Given the description of an element on the screen output the (x, y) to click on. 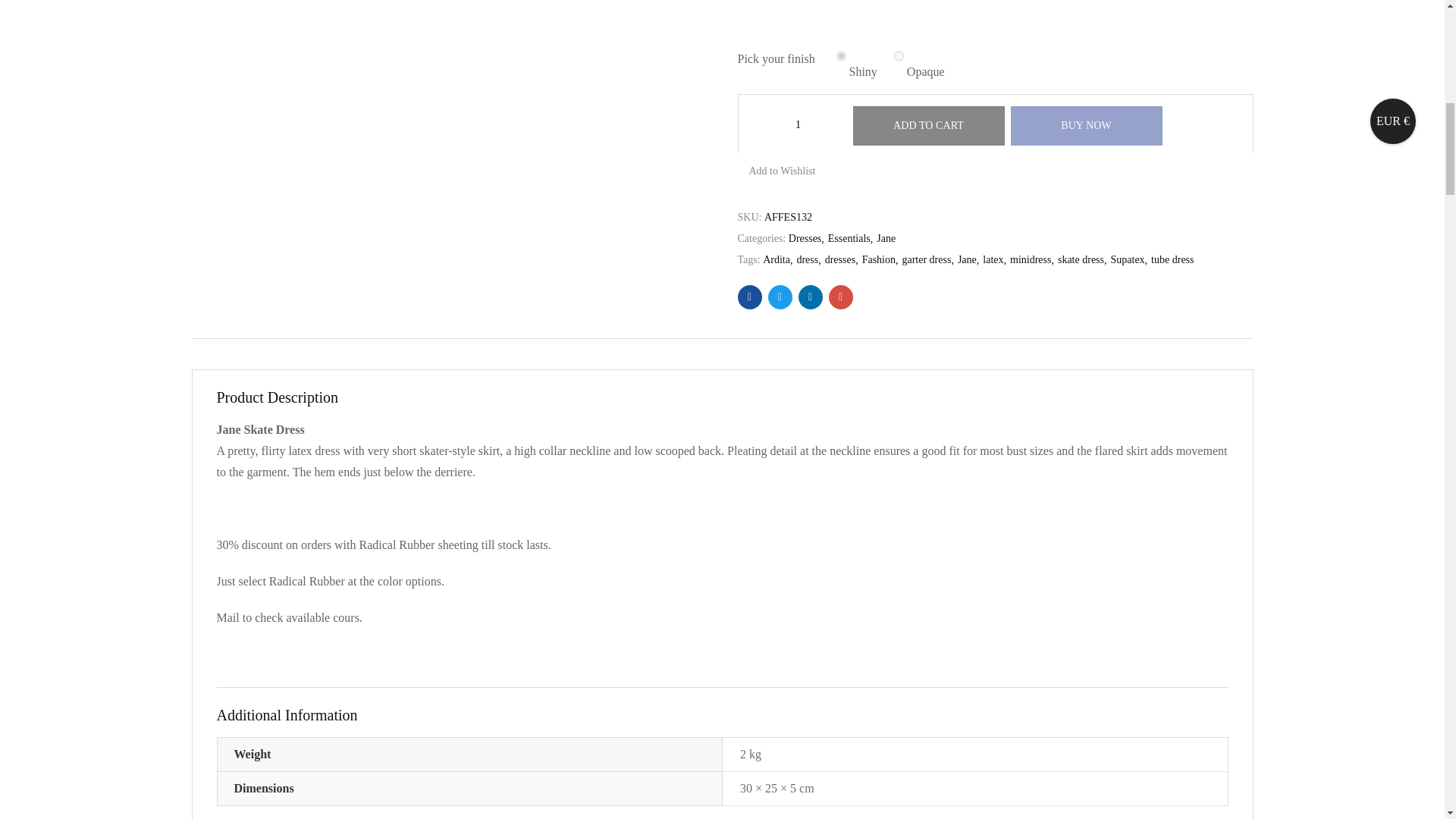
1 (797, 124)
